Given the description of an element on the screen output the (x, y) to click on. 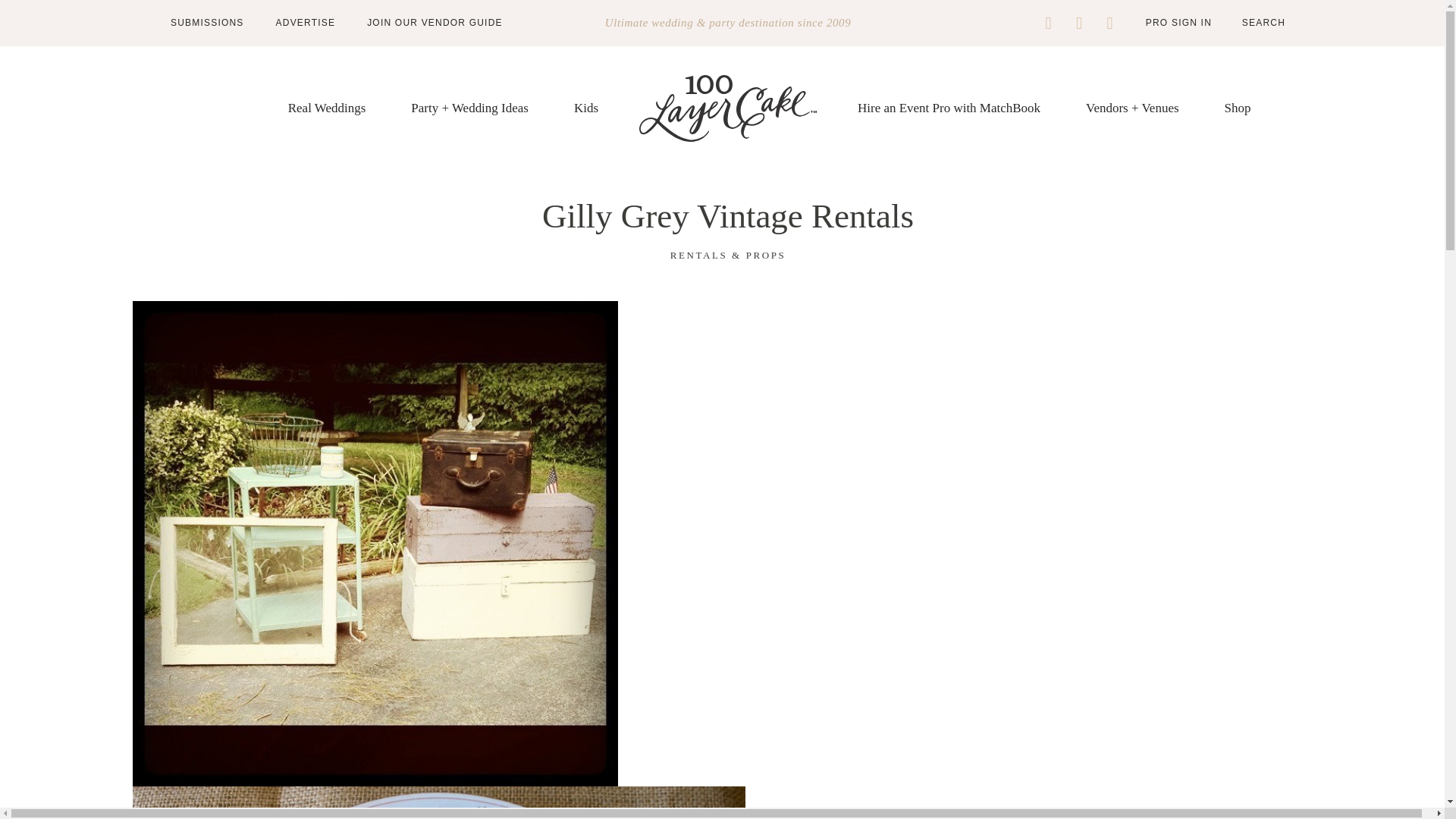
Kids (585, 107)
Search (1251, 22)
PRO SIGN IN (1178, 22)
ADVERTISE (306, 22)
Hire an Event Pro with MatchBook (949, 107)
SUBMISSIONS (207, 22)
Real Weddings (327, 107)
Search (1251, 22)
JOIN OUR VENDOR GUIDE (434, 22)
Shop (1237, 107)
